Given the description of an element on the screen output the (x, y) to click on. 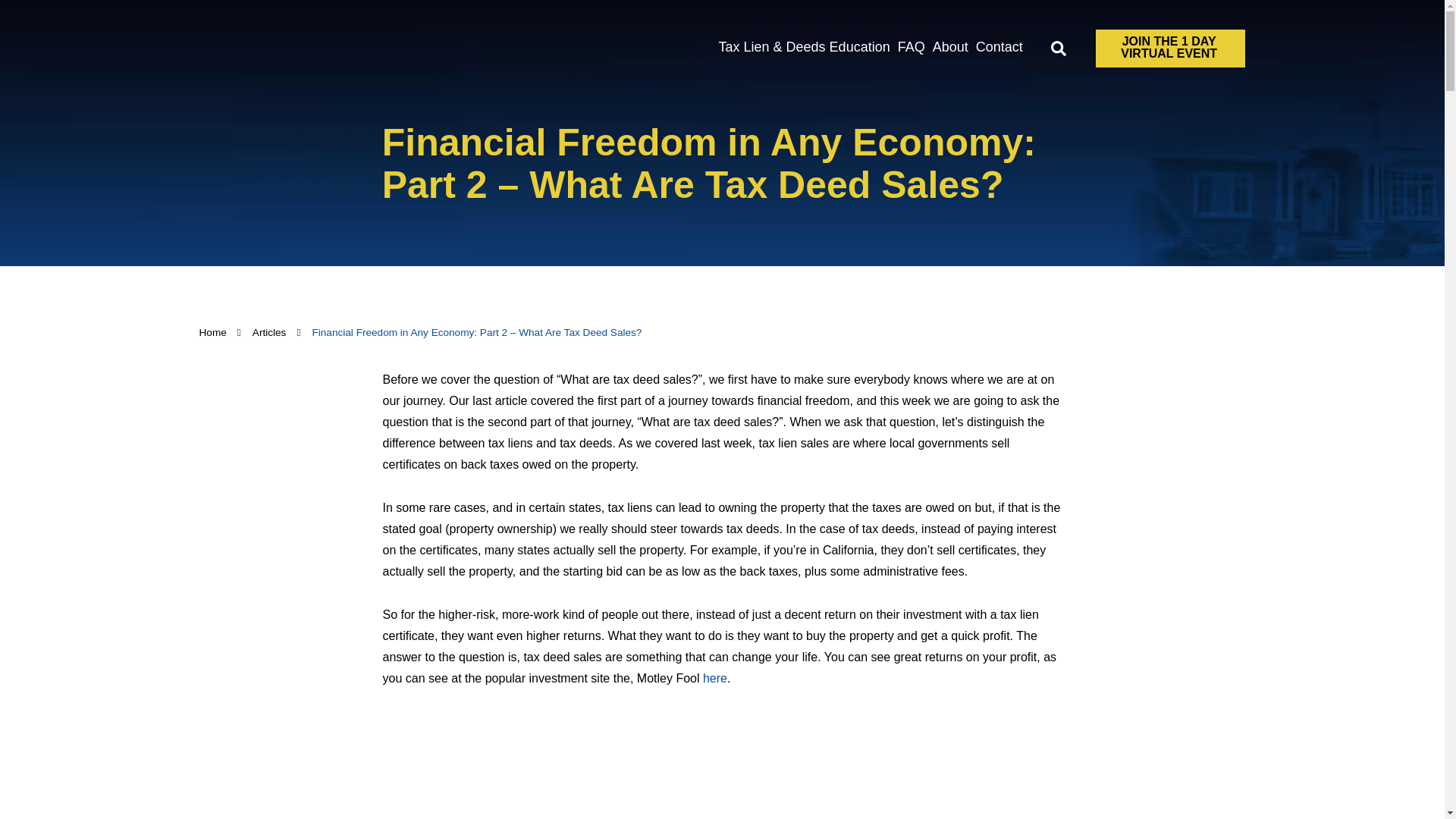
About (950, 46)
Contact (999, 46)
FAQ (910, 46)
